Given the description of an element on the screen output the (x, y) to click on. 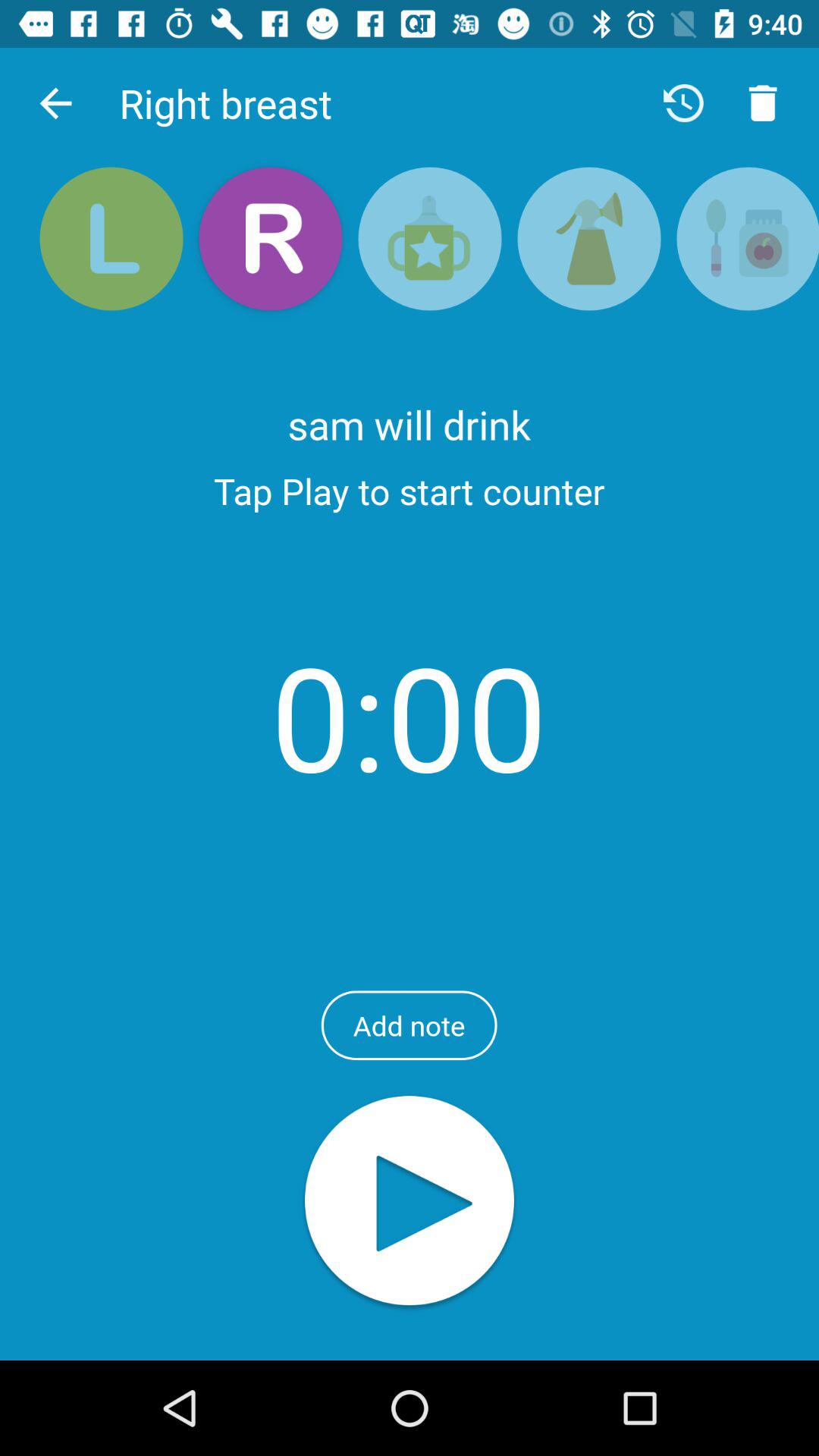
choose 0:00 item (408, 715)
